Given the description of an element on the screen output the (x, y) to click on. 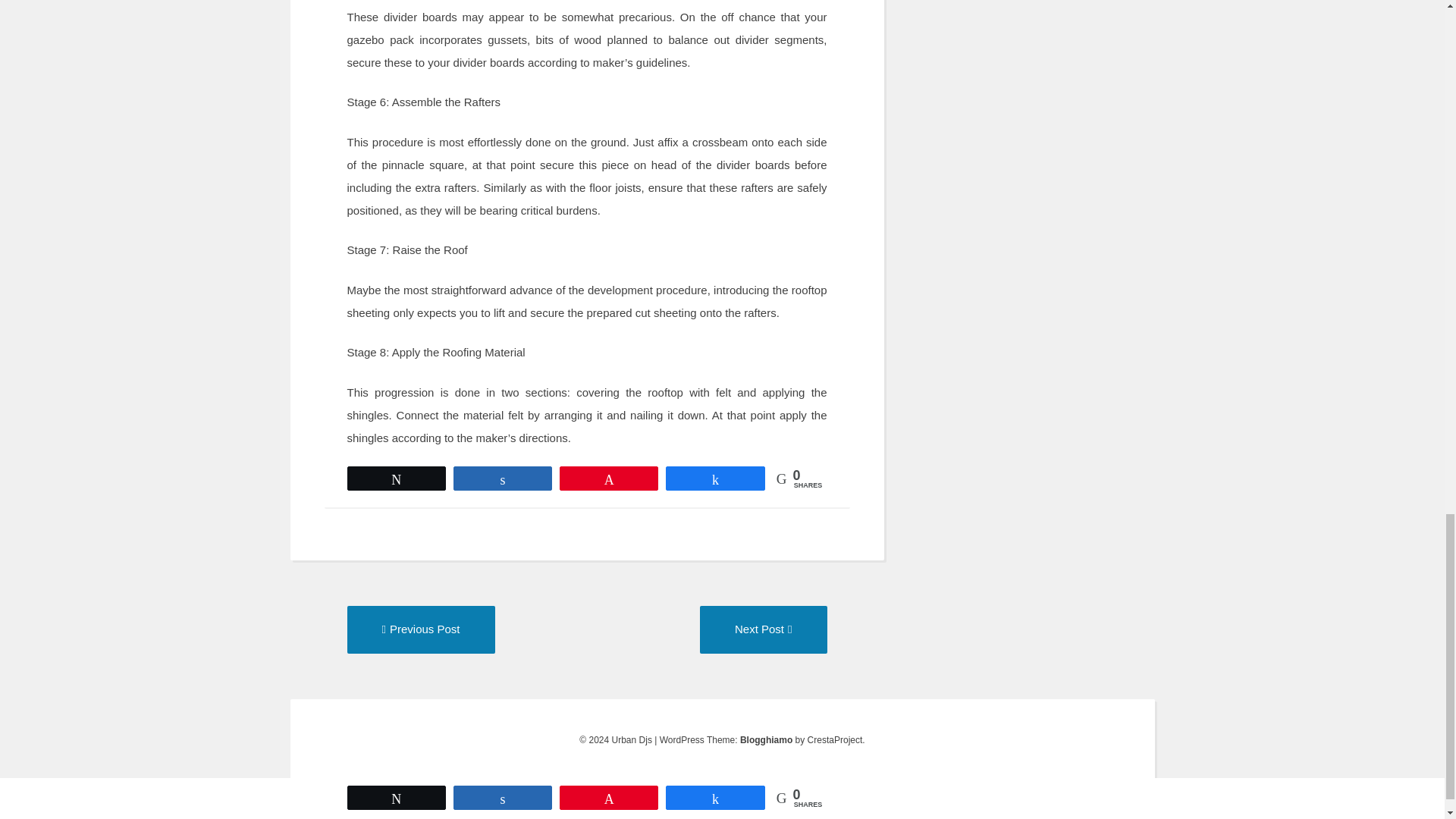
Features of having the Elektroroller (763, 628)
Blogghiamo (421, 629)
Blogghiamo Theme (421, 628)
Structures of getting Private Instagram Viewers thought (765, 739)
